Given the description of an element on the screen output the (x, y) to click on. 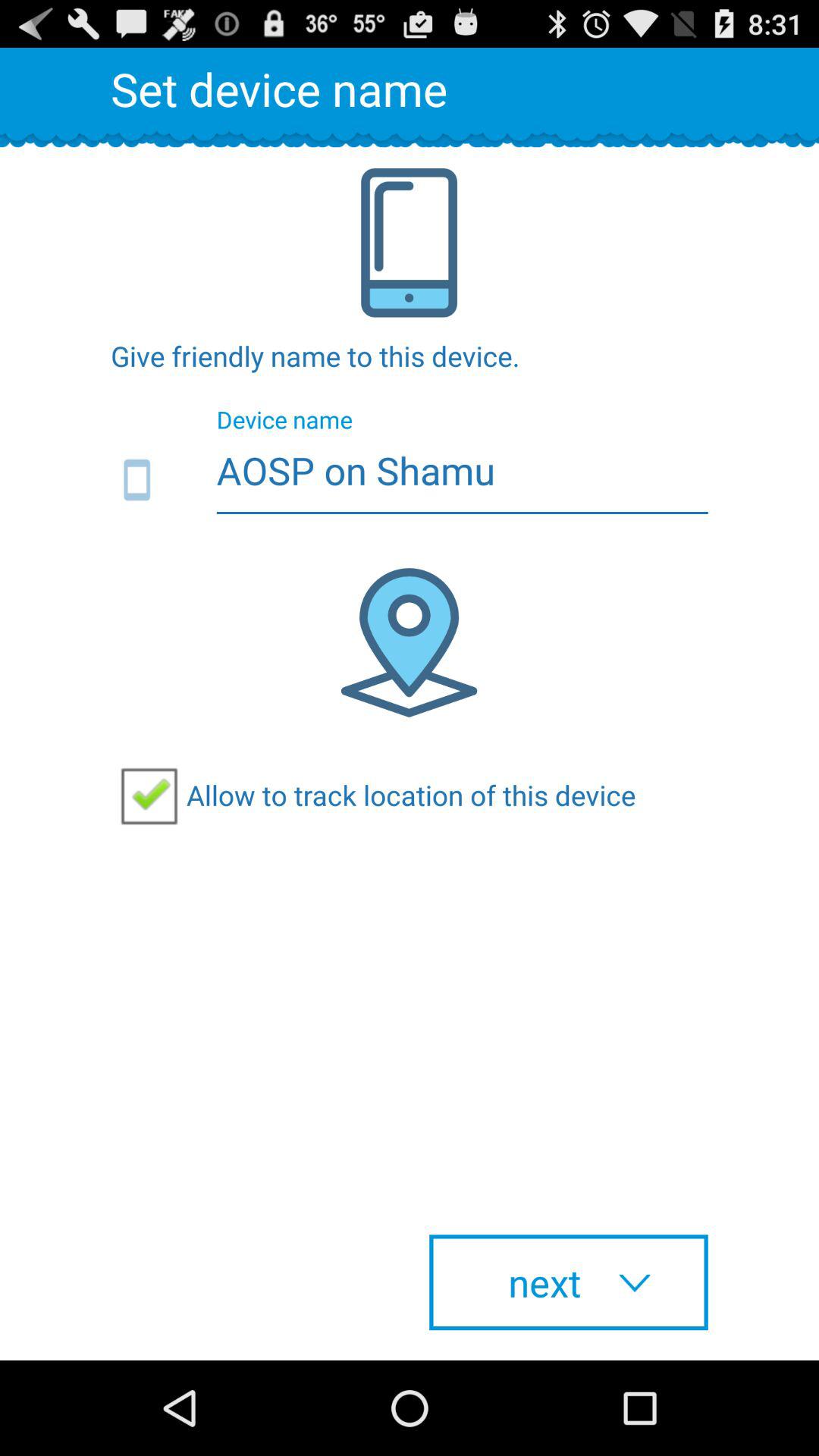
select item above the next (372, 794)
